Given the description of an element on the screen output the (x, y) to click on. 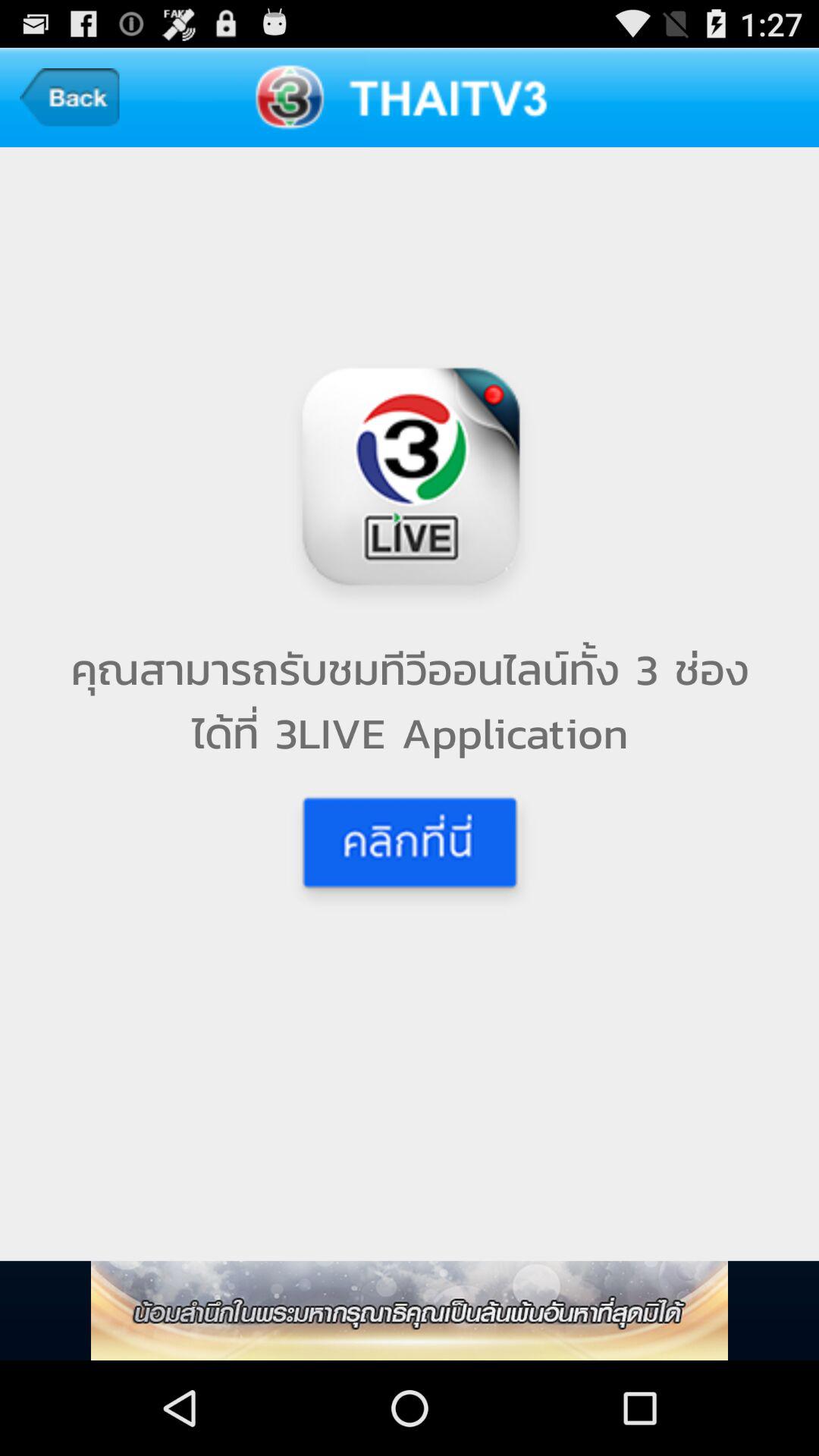
go to other website (409, 1310)
